Given the description of an element on the screen output the (x, y) to click on. 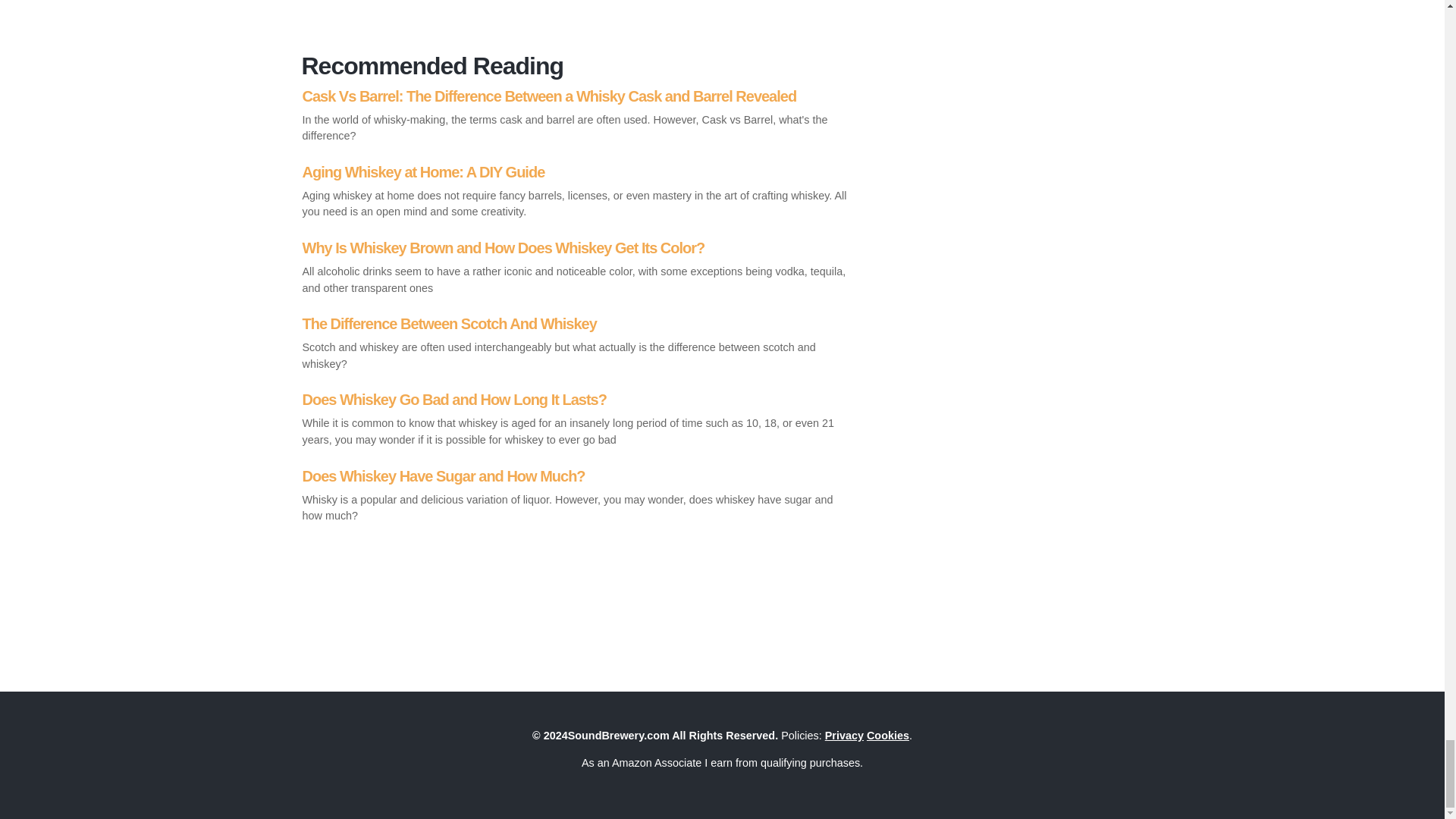
Does Whiskey Go Bad and How Long It Lasts? (577, 418)
Does Whiskey Have Sugar and How Much? (577, 495)
Why Is Whiskey Brown and How Does Whiskey Get Its Color? (577, 267)
Aging Whiskey at Home: A DIY Guide (577, 191)
The Difference Between Scotch And Whiskey (577, 343)
